Given the description of an element on the screen output the (x, y) to click on. 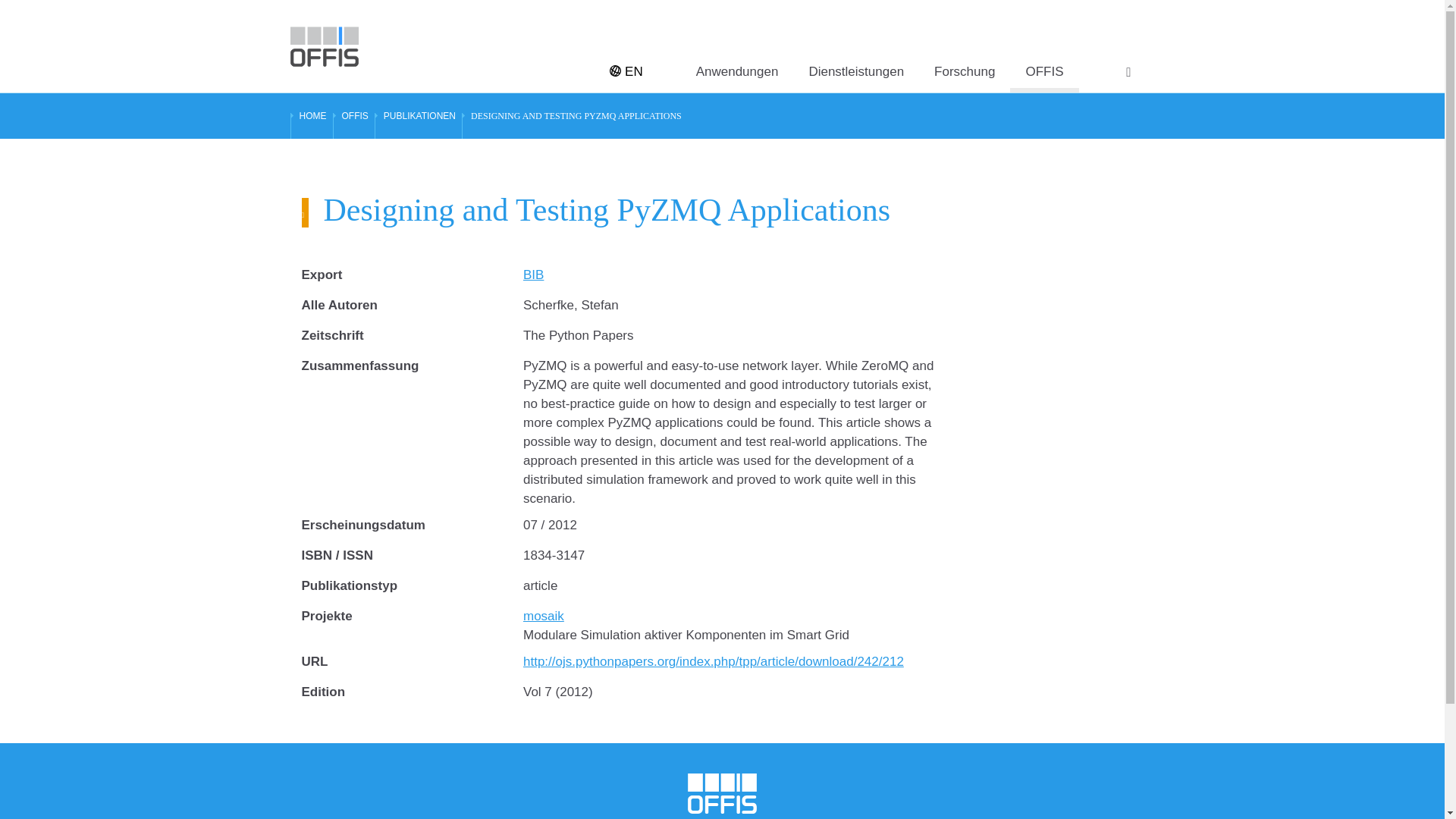
Anwendungen (737, 46)
Dienstleistungen (855, 46)
Bibtextexport (532, 274)
OFFIS (354, 115)
